Given the description of an element on the screen output the (x, y) to click on. 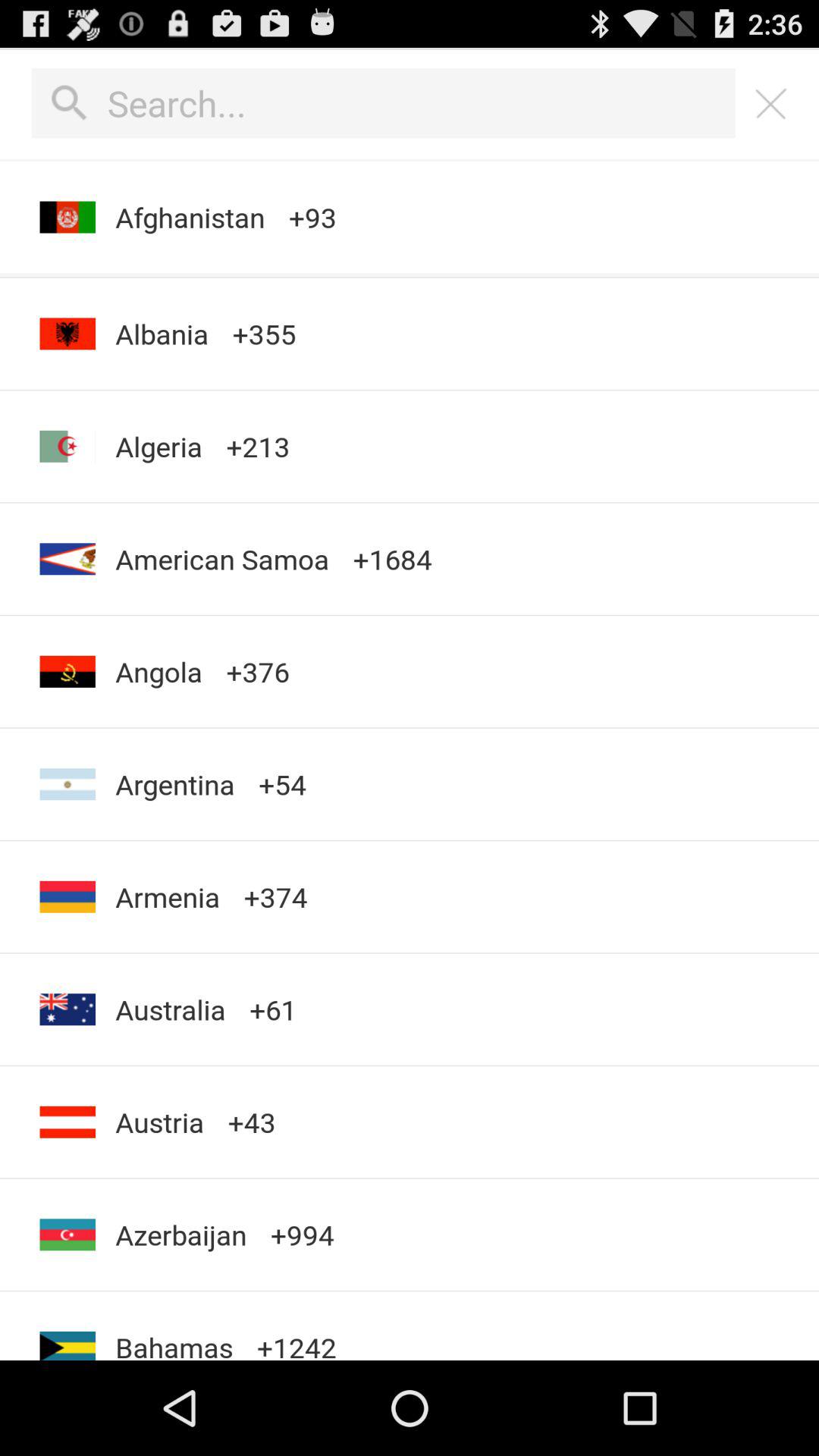
go to search box (383, 103)
